Given the description of an element on the screen output the (x, y) to click on. 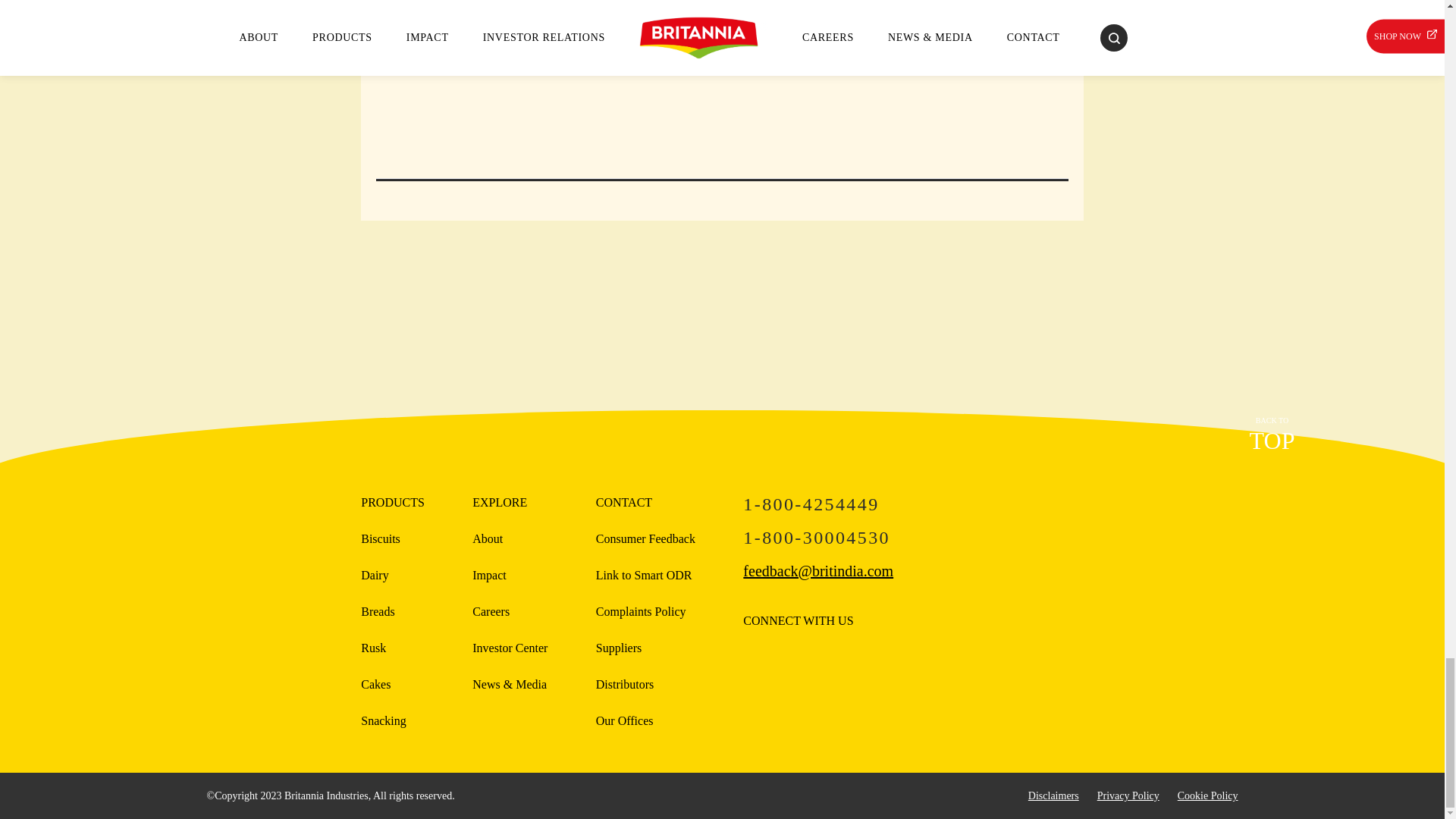
Rusk (373, 648)
1-800-30004530 (912, 537)
Consumer Feedback (645, 538)
1-800-4254449 (912, 504)
Suppliers (618, 648)
Biscuits (380, 538)
Cookie Policy (1208, 795)
Investor Center (1271, 436)
Careers (509, 648)
